Given the description of an element on the screen output the (x, y) to click on. 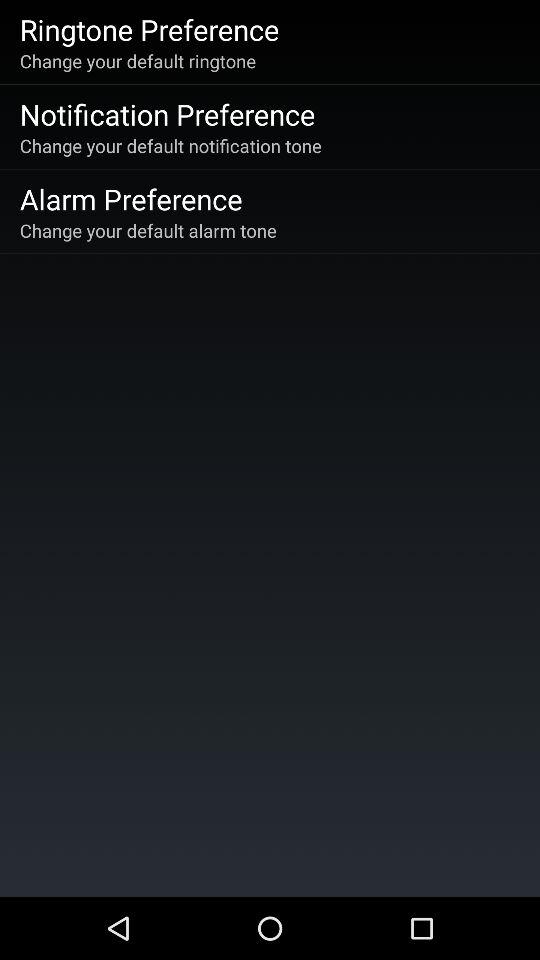
choose item above change your default (149, 29)
